Given the description of an element on the screen output the (x, y) to click on. 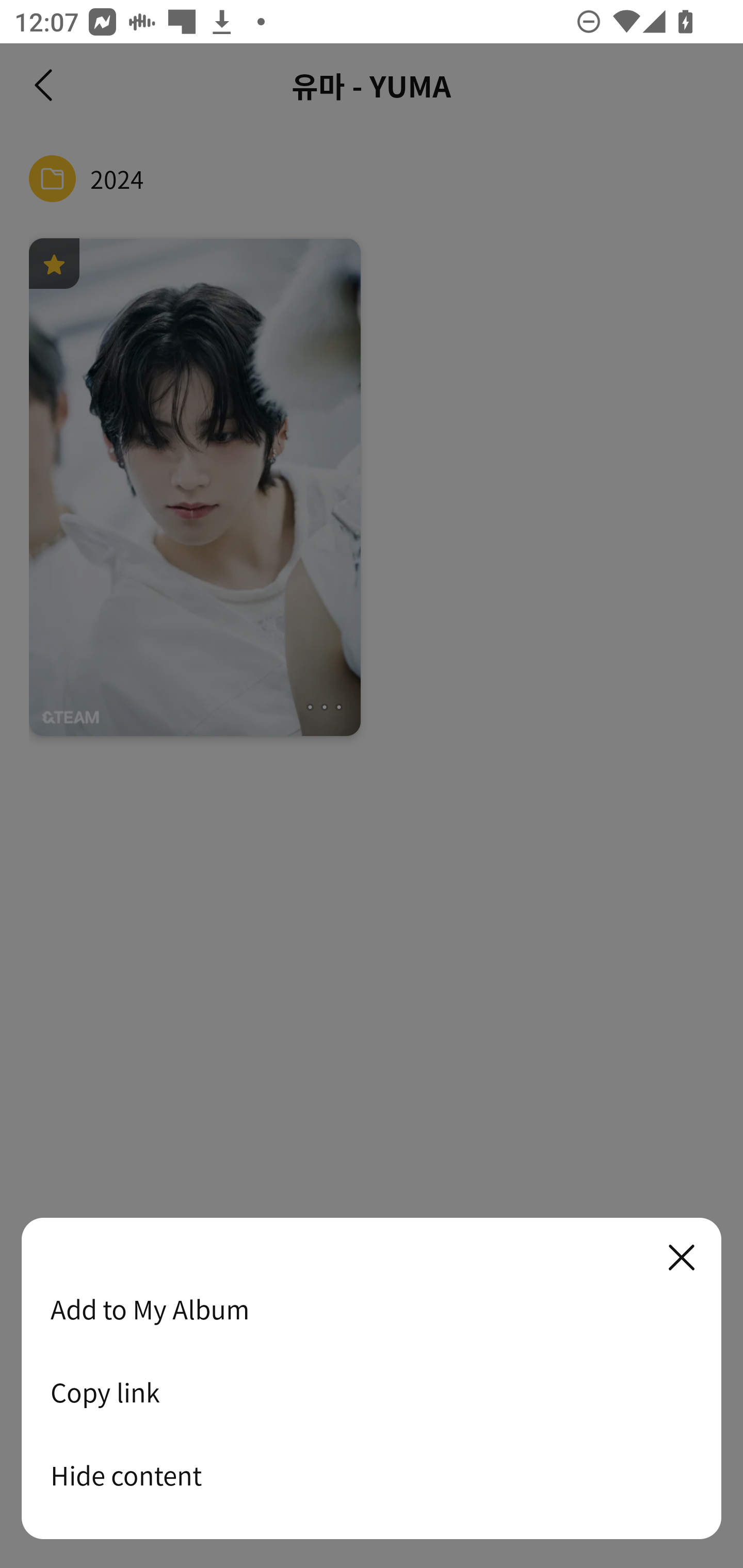
Add to My Album Copy link Hide content (371, 1378)
Add to My Album (371, 1308)
Copy link (371, 1391)
Hide content (371, 1474)
